Given the description of an element on the screen output the (x, y) to click on. 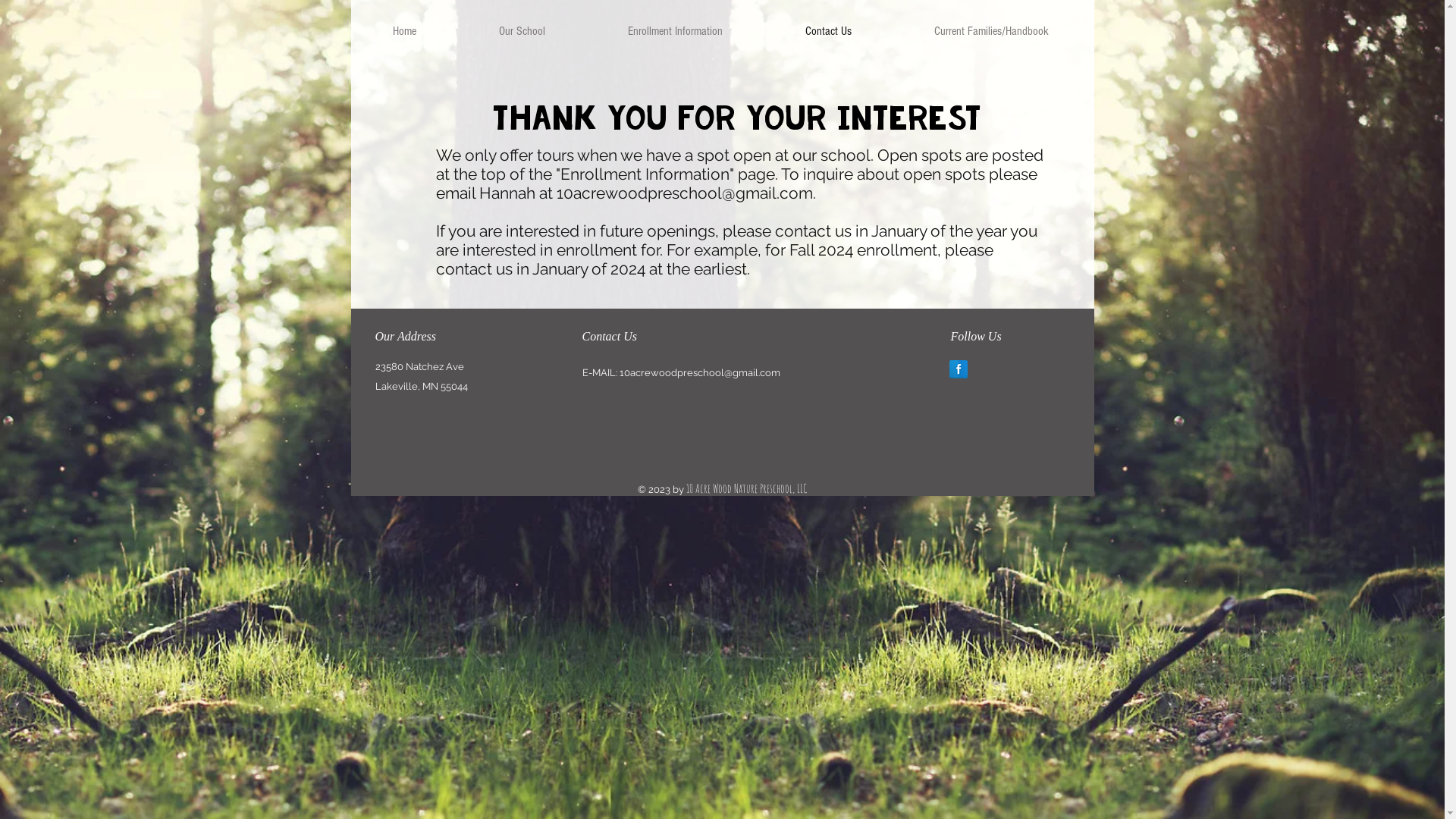
10acrewoodpreschool@gmail.com Element type: text (684, 192)
Current Families/Handbook Element type: text (989, 31)
10acrewoodpreschool@gmail.com Element type: text (698, 372)
Contact Us Element type: text (826, 31)
Home Element type: text (404, 31)
Enrollment Information Element type: text (673, 31)
Our School Element type: text (520, 31)
